Given the description of an element on the screen output the (x, y) to click on. 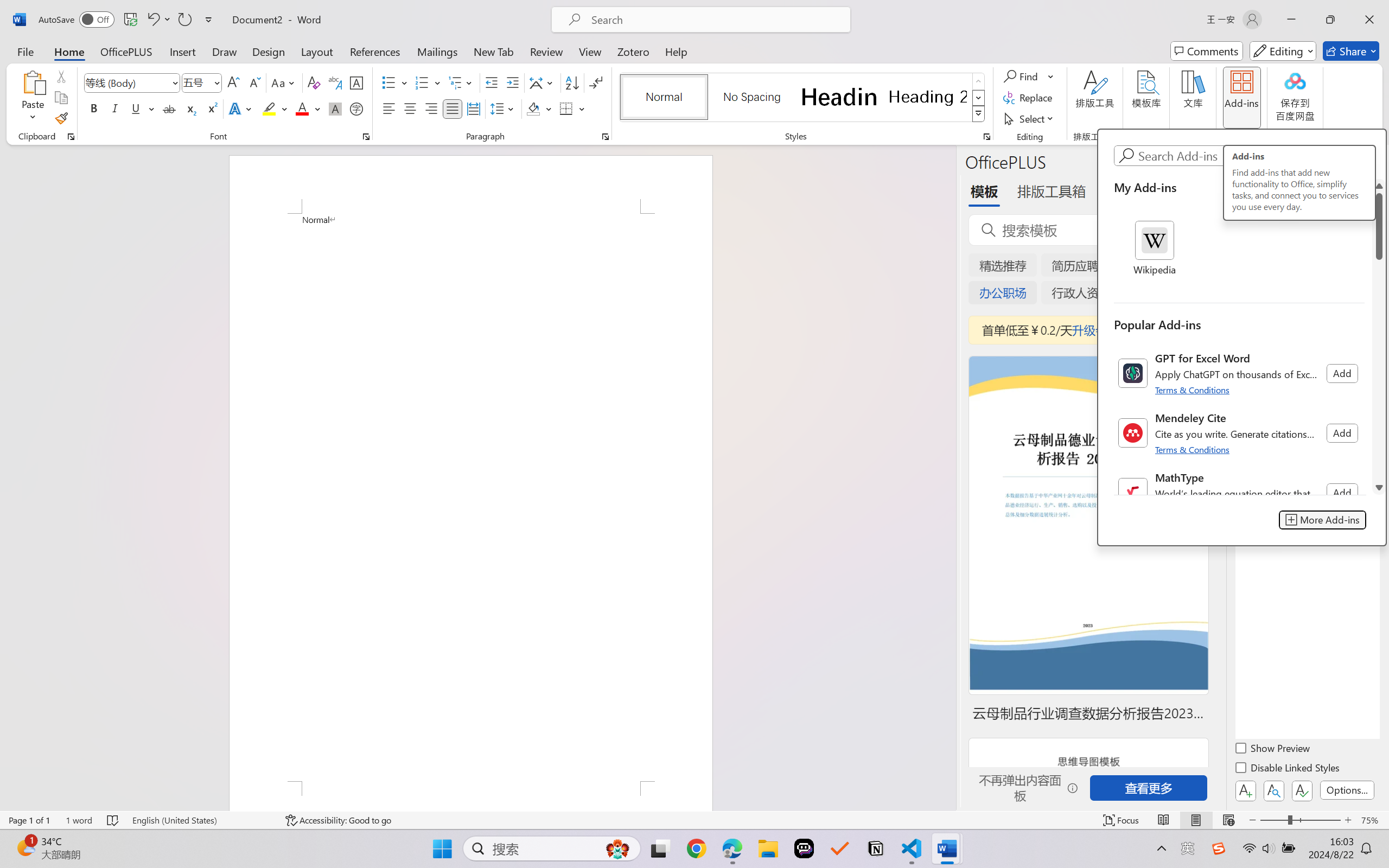
Font... (365, 136)
Line up (1379, 185)
Text Effects and Typography (241, 108)
Numbering (421, 82)
Zoom Out (1273, 819)
Class: MsoCommandBar (694, 819)
Customize Quick Access Toolbar (208, 19)
Styles (978, 113)
Insert (182, 51)
Underline (142, 108)
Undo Apply Quick Style (158, 19)
